Given the description of an element on the screen output the (x, y) to click on. 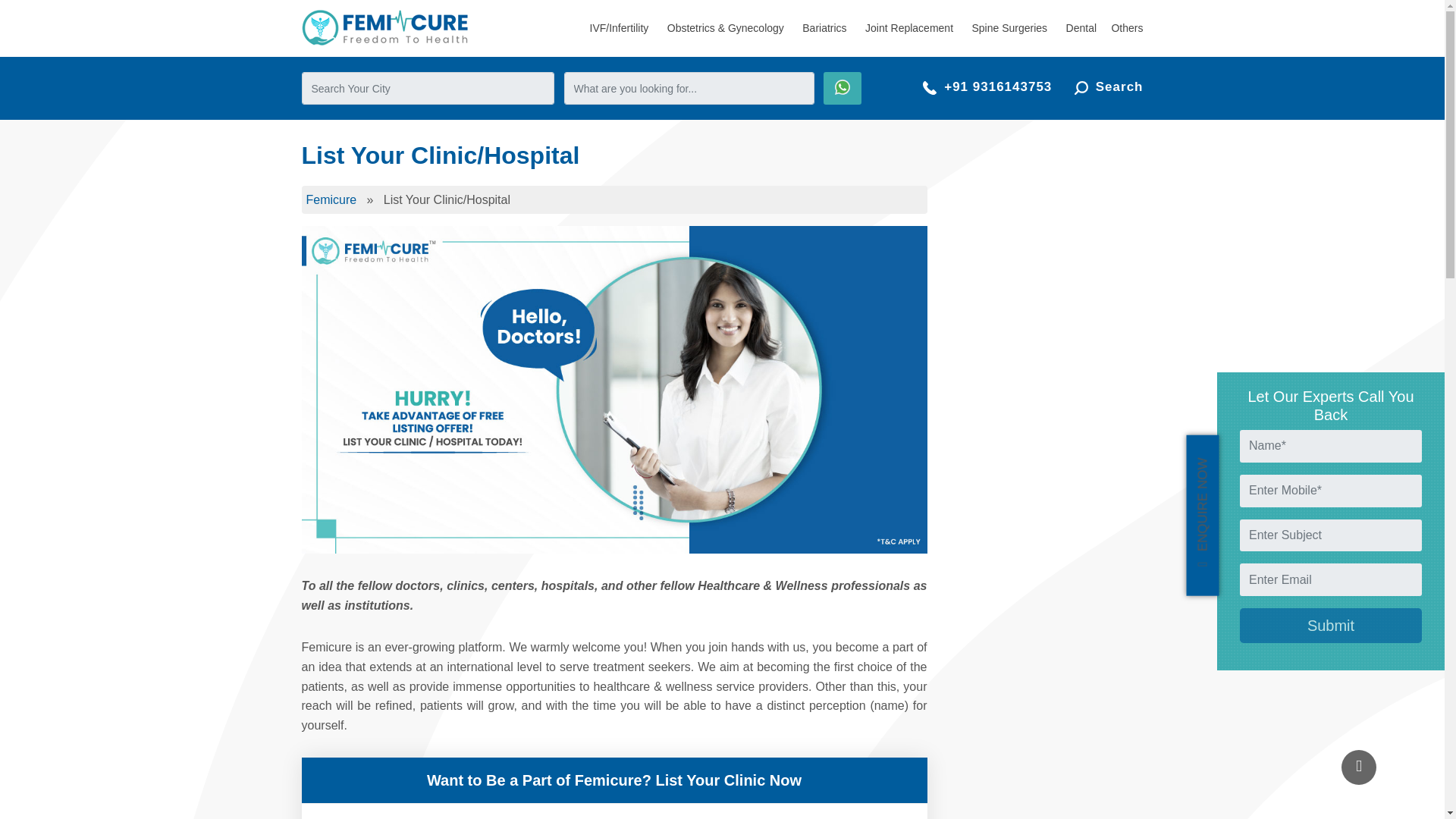
Submit (1331, 625)
Bariatrics (823, 27)
Dental (1080, 27)
Spine Surgeries (1008, 27)
Joint Replacement (908, 27)
